Given the description of an element on the screen output the (x, y) to click on. 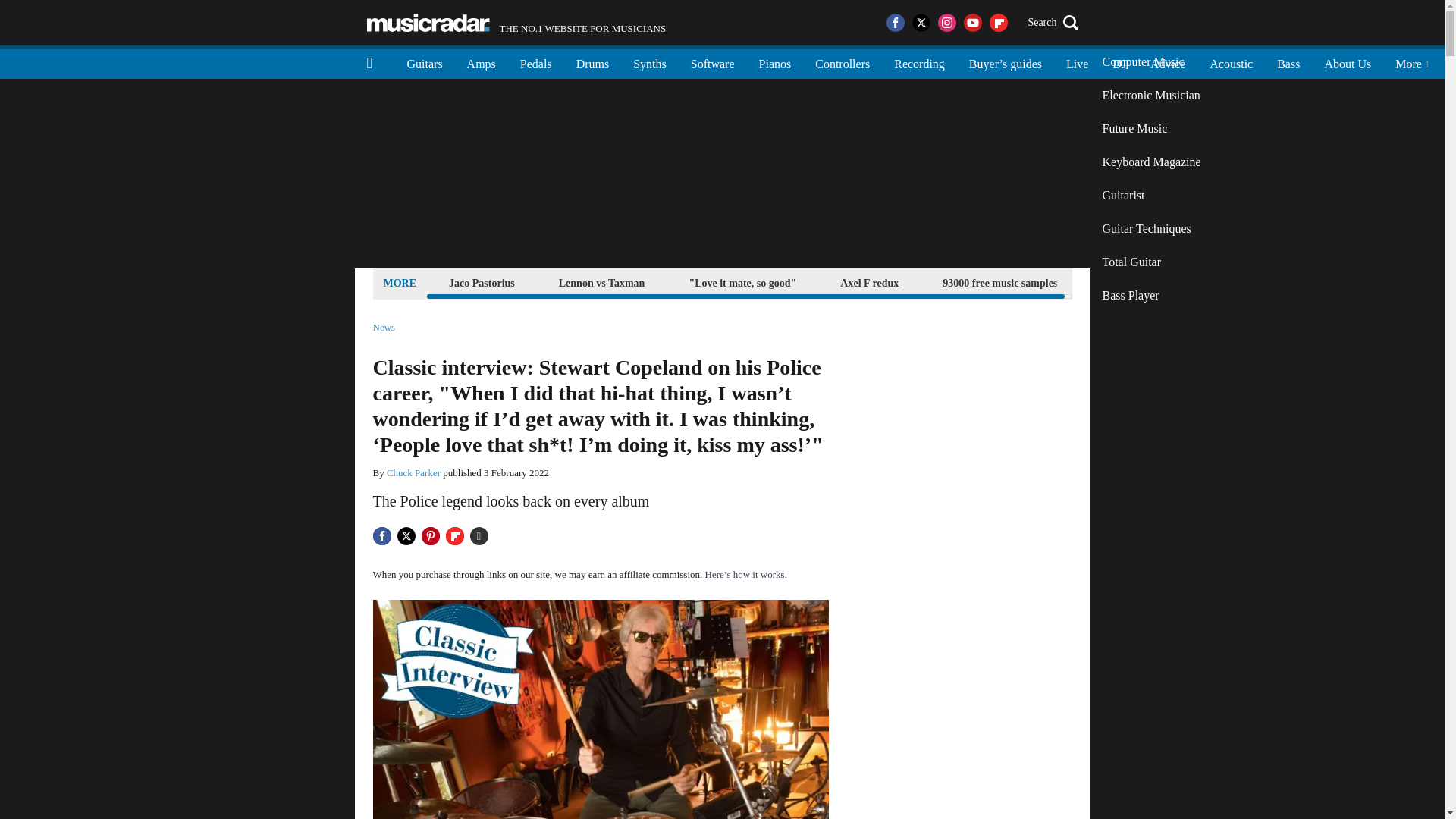
Pedals (536, 61)
Lennon vs Taxman (601, 282)
Jaco Pastorius (481, 282)
DJ (1119, 61)
Bass (1288, 61)
Pianos (774, 61)
About Us (1347, 61)
Future Music (1151, 128)
Computer Music (1151, 61)
Guitar Techniques (1151, 228)
93000 free music samples (999, 282)
Amps (481, 61)
Synths (649, 61)
Music Radar (427, 22)
Guitarist (1151, 195)
